Given the description of an element on the screen output the (x, y) to click on. 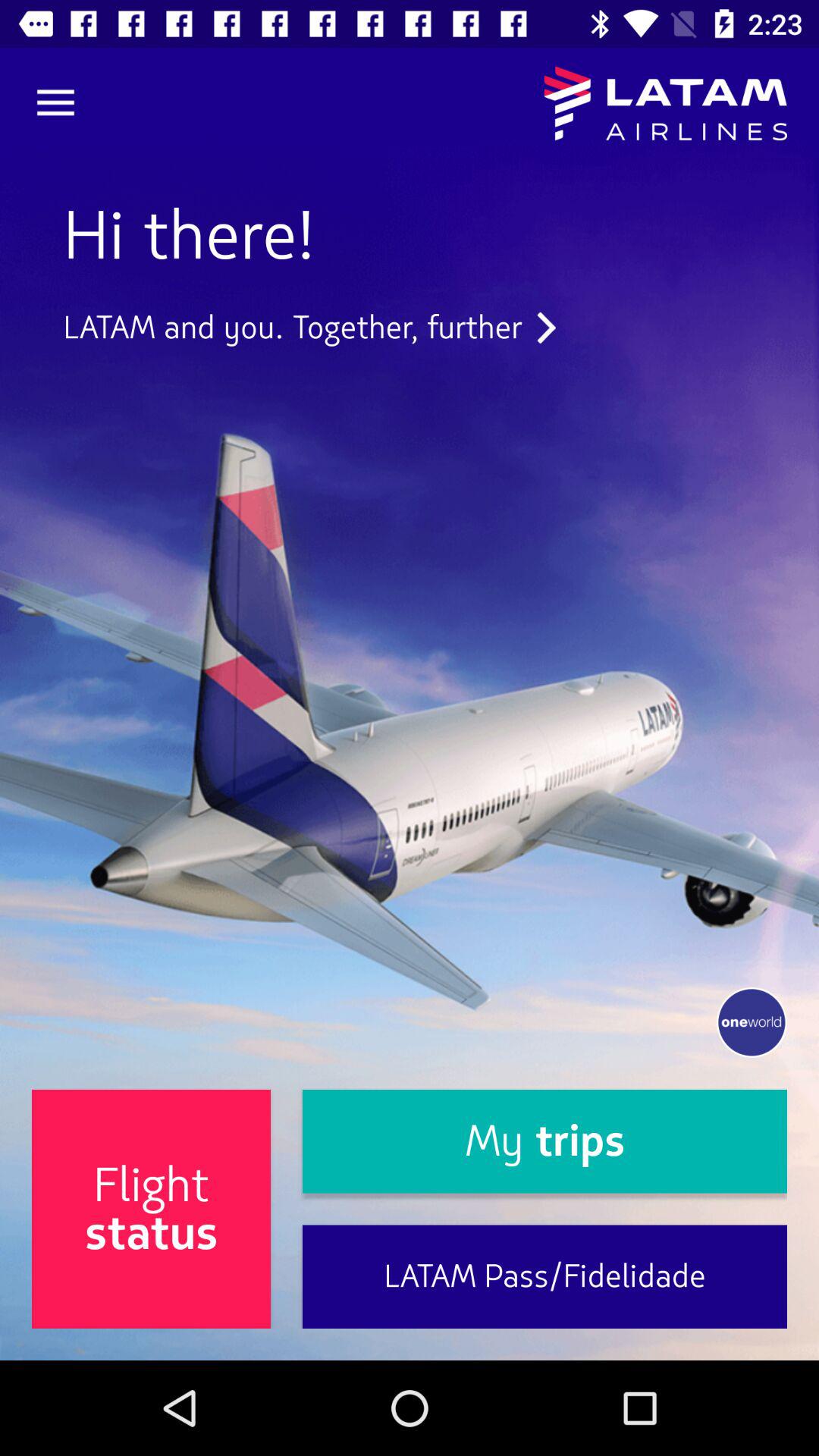
choose the icon at the top left corner (55, 103)
